Given the description of an element on the screen output the (x, y) to click on. 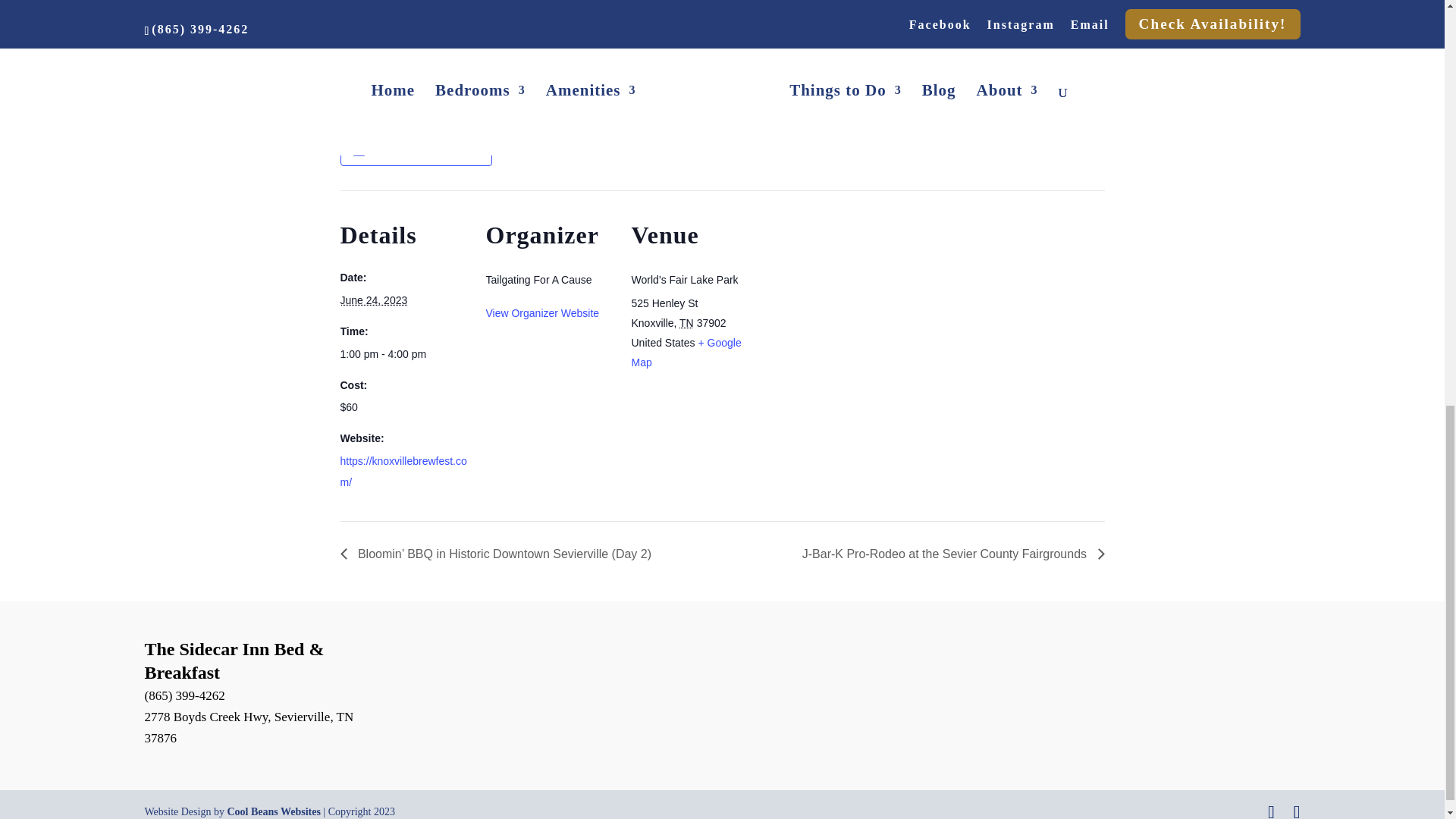
Click to view a Google Map (685, 352)
2023-06-24 (403, 353)
Tennessee (686, 322)
2023-06-24 (373, 300)
